Given the description of an element on the screen output the (x, y) to click on. 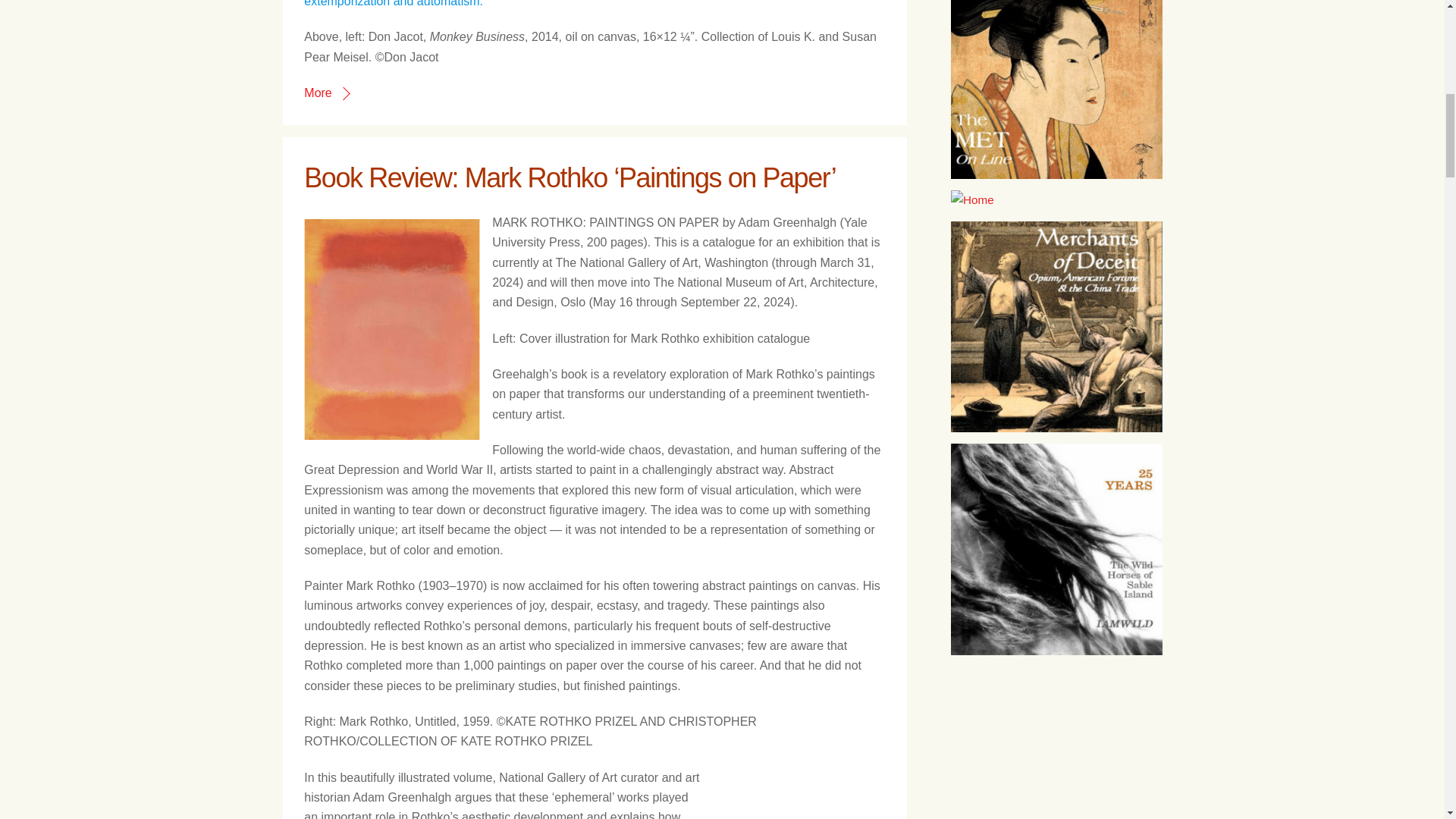
Home (1055, 326)
Home (1055, 548)
More (325, 92)
Home (1055, 89)
Home (1055, 199)
